Given the description of an element on the screen output the (x, y) to click on. 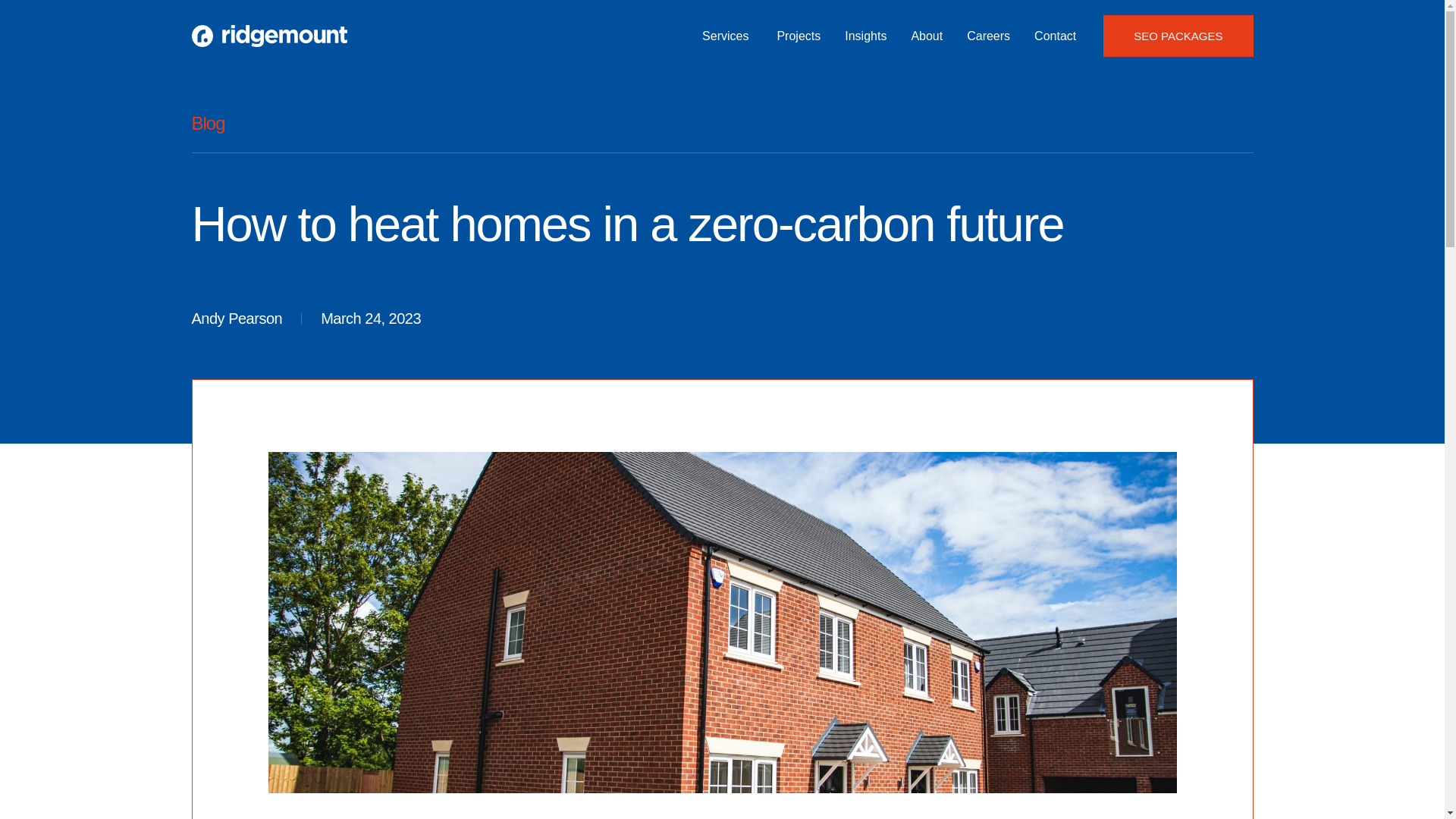
Contact (1054, 36)
Careers (988, 36)
SEO PACKAGES (1177, 35)
Insights (865, 36)
Projects (798, 36)
About (926, 36)
